Given the description of an element on the screen output the (x, y) to click on. 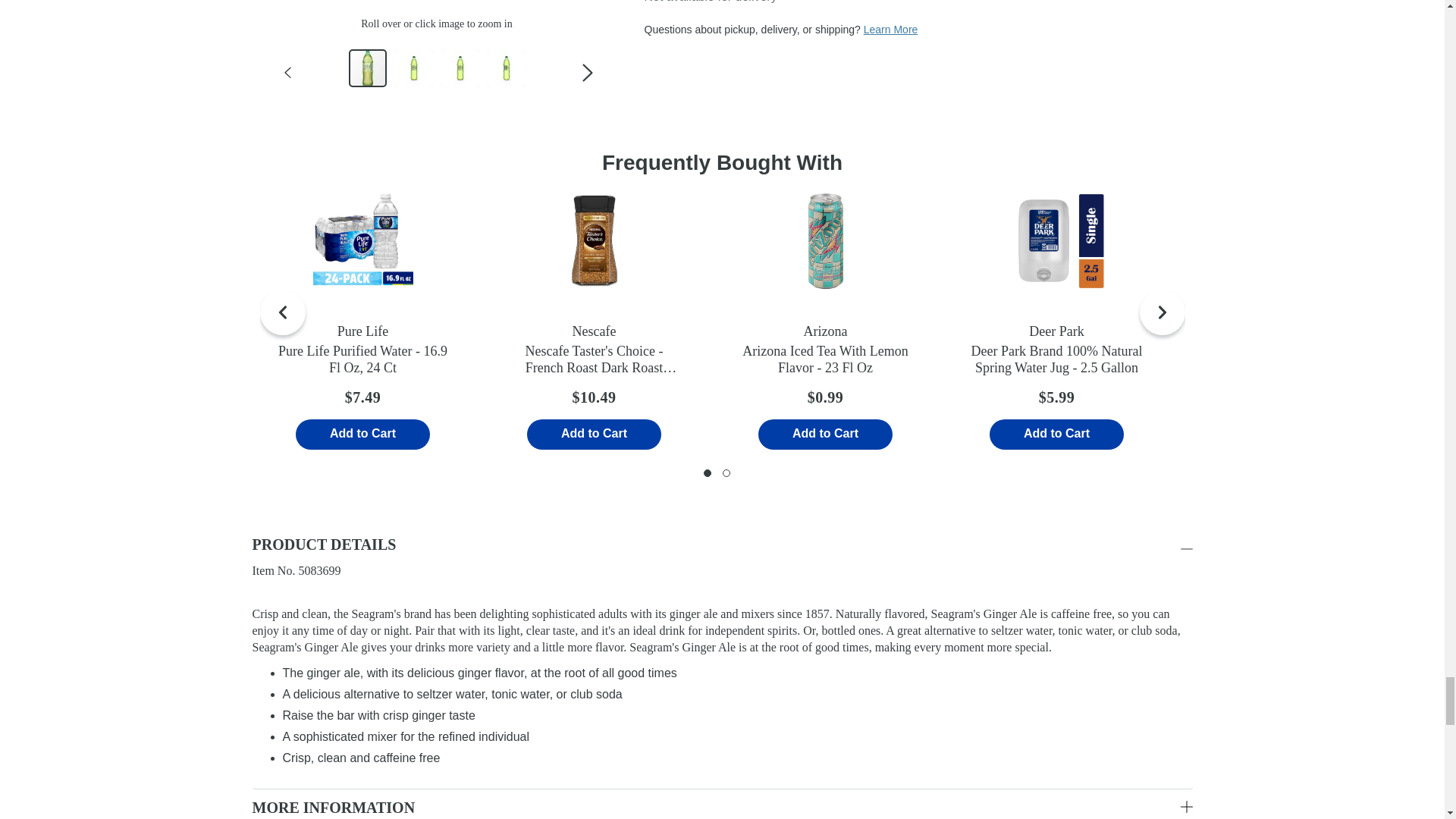
pure life purified water - 16.9 fl oz, 24 ct (362, 240)
Add to Cart (362, 434)
